Given the description of an element on the screen output the (x, y) to click on. 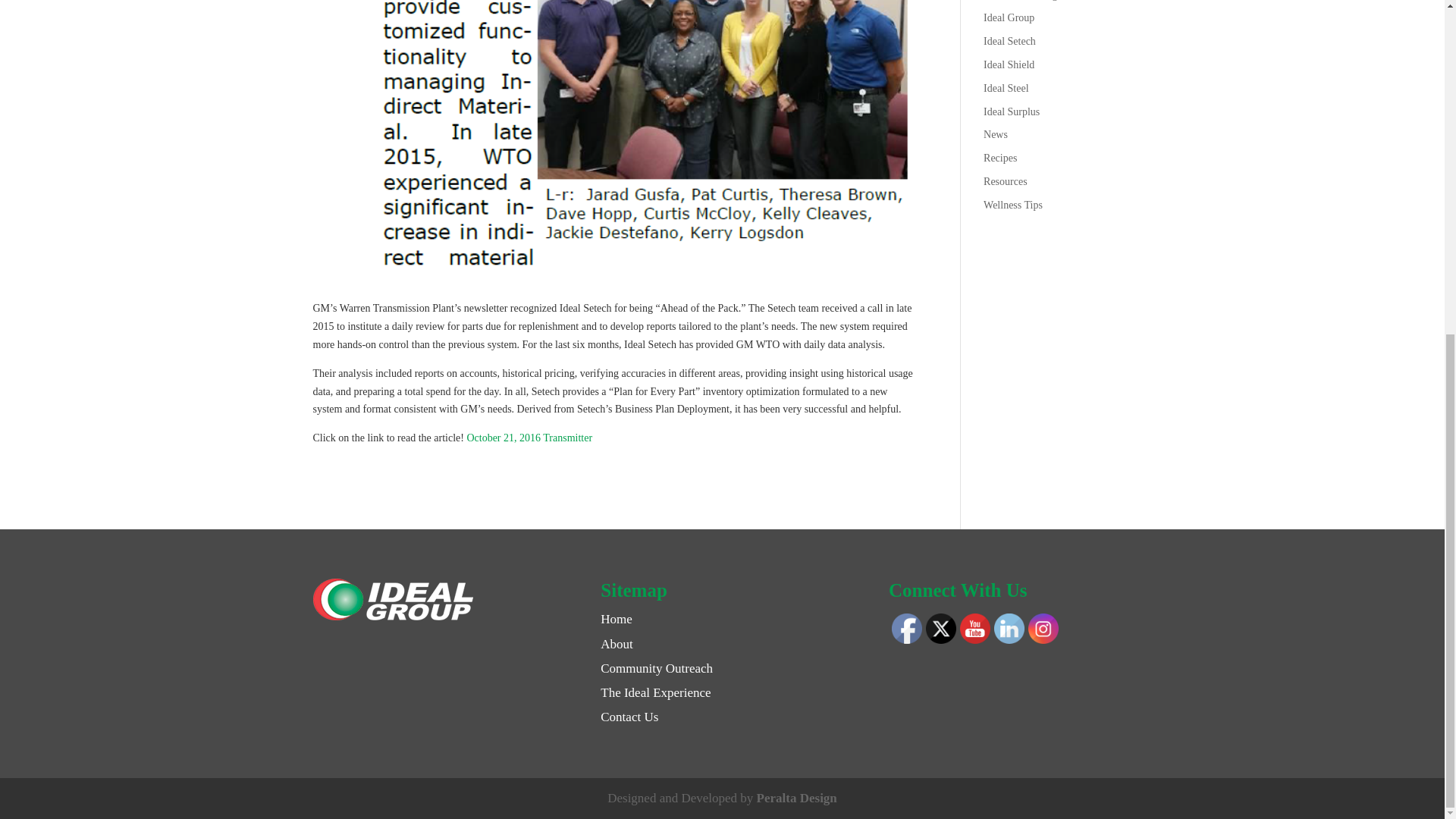
Instagram (1042, 628)
Twitter (941, 628)
October 21, 2016 Transmitter (528, 437)
Facebook (906, 628)
